Given the description of an element on the screen output the (x, y) to click on. 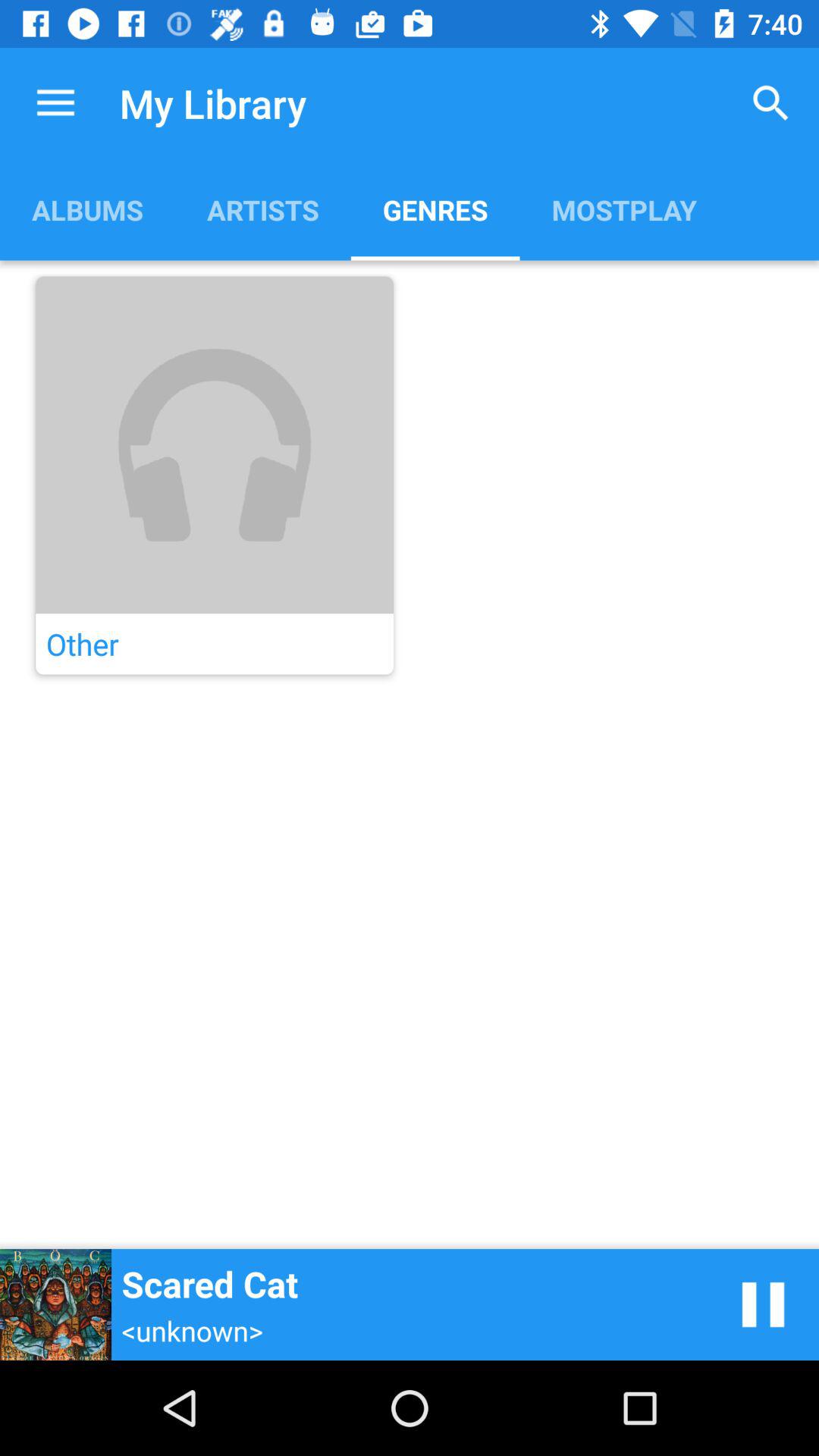
press app above albums item (55, 103)
